Given the description of an element on the screen output the (x, y) to click on. 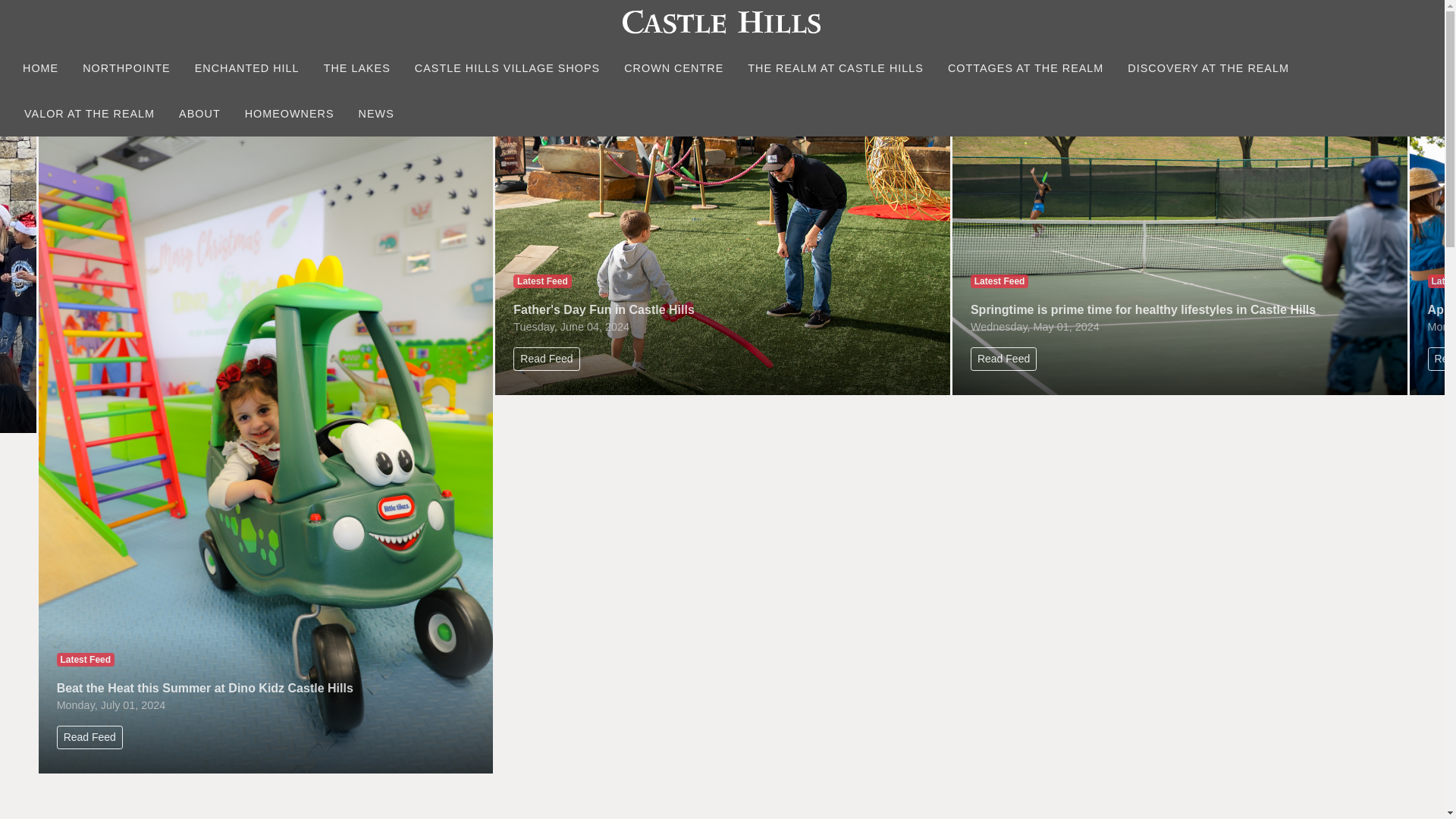
DISCOVERY AT THE REALM (1208, 67)
NEWS (376, 113)
NORTHPOINTE (125, 67)
THE REALM AT CASTLE HILLS (835, 67)
CASTLE HILLS VILLAGE SHOPS (507, 67)
THE LAKES (357, 67)
CROWN CENTRE (673, 67)
VALOR AT THE REALM (89, 113)
COTTAGES AT THE REALM (1025, 67)
ABOUT (199, 113)
HOME (40, 67)
Read Feed (89, 737)
HOMEOWNERS (289, 113)
ENCHANTED HILL (247, 67)
